Given the description of an element on the screen output the (x, y) to click on. 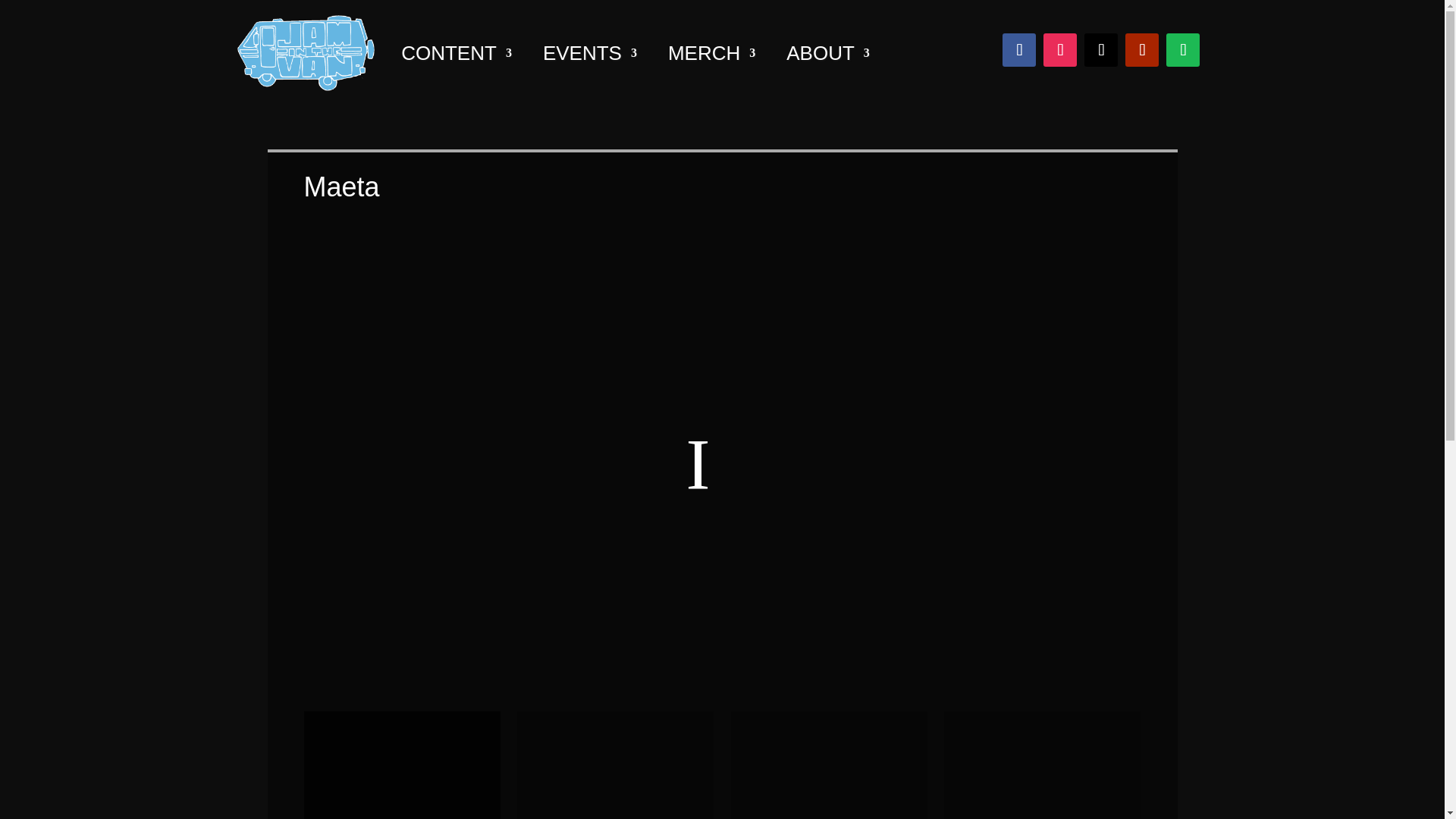
Follow on Youtube (1141, 49)
CONTENT (456, 52)
EVENTS (590, 52)
MERCH (711, 52)
Follow on Facebook (1019, 49)
ABOUT (827, 52)
Follow on Instagram (1060, 49)
Follow on X (1101, 49)
Follow on Spotify (1182, 49)
